Given the description of an element on the screen output the (x, y) to click on. 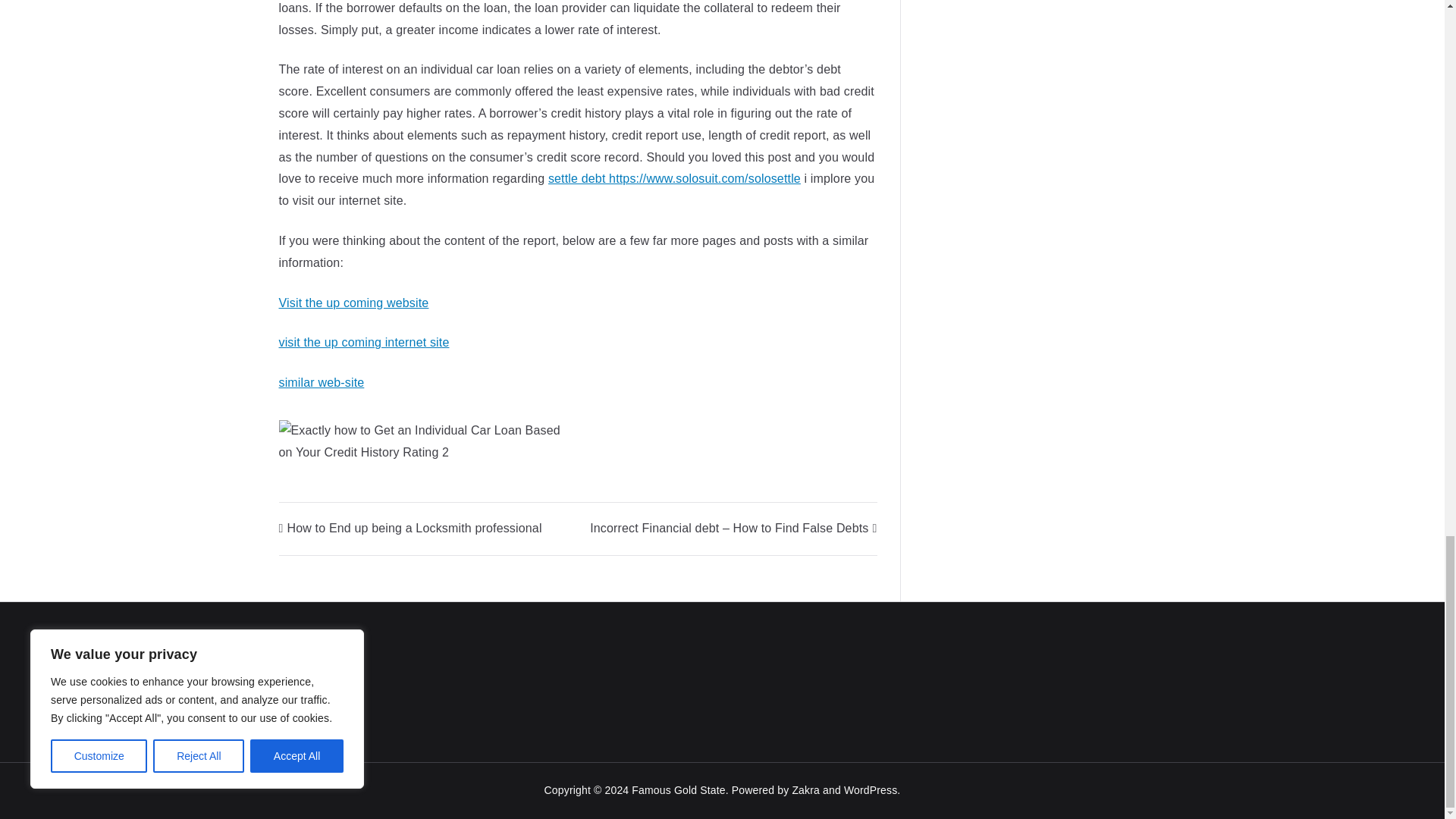
visit the up coming internet site (364, 341)
Zakra (805, 789)
similar web-site (322, 382)
How to End up being a Locksmith professional (410, 527)
Famous Gold State (678, 789)
Visit the up coming website (354, 302)
WordPress (870, 789)
